Given the description of an element on the screen output the (x, y) to click on. 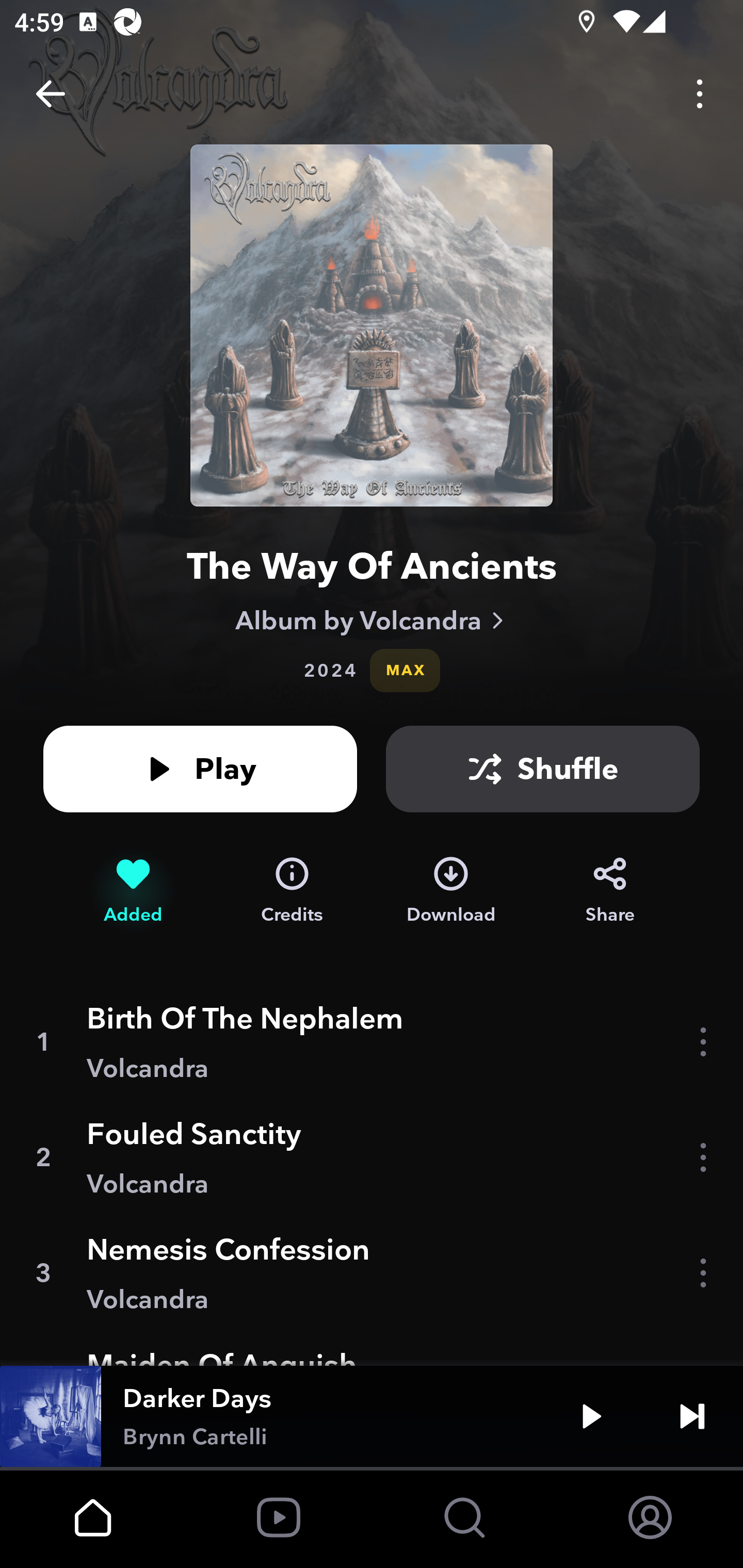
Options (699, 93)
The Way Of Ancients (371, 565)
Album by Volcandra (371, 619)
Play (200, 768)
Shuffle (542, 768)
Remove from My Collection Added (132, 890)
Credits (291, 890)
Download (450, 890)
Share (609, 890)
1 Birth Of The Nephalem Volcandra (371, 1041)
2 Fouled Sanctity Volcandra (371, 1157)
3 Nemesis Confession Volcandra (371, 1273)
Darker Days Brynn Cartelli Play (371, 1416)
Play (590, 1416)
